Given the description of an element on the screen output the (x, y) to click on. 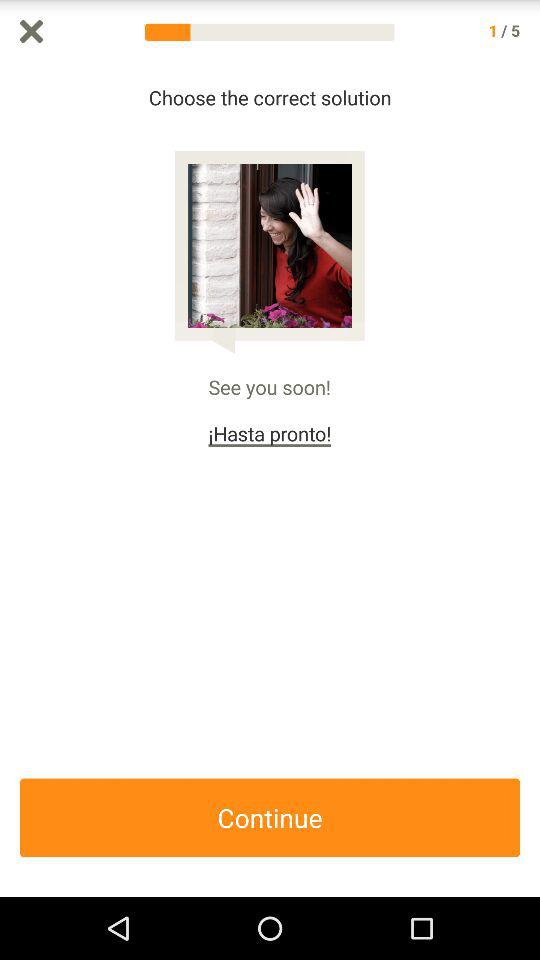
exit page (31, 31)
